Given the description of an element on the screen output the (x, y) to click on. 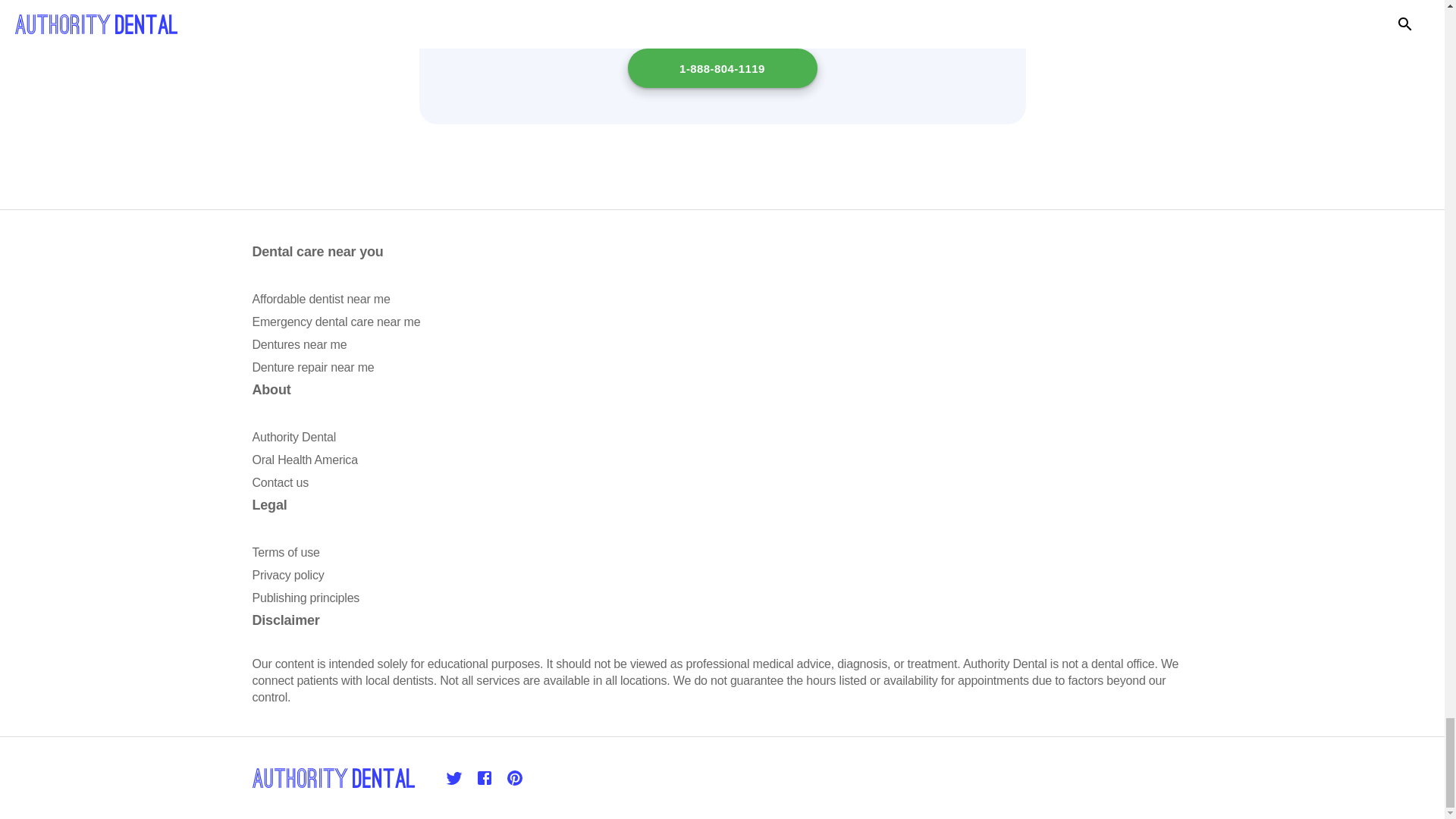
Publishing principles (305, 597)
Privacy policy (287, 574)
Authority Dental (293, 436)
Contact us (279, 481)
Oral Health America (303, 459)
1-888-804-1119 (721, 67)
Terms of use (284, 552)
Emergency dental care near me (335, 321)
Denture repair near me (312, 367)
Affordable dentist near me (320, 298)
Dentures near me (298, 344)
